Given the description of an element on the screen output the (x, y) to click on. 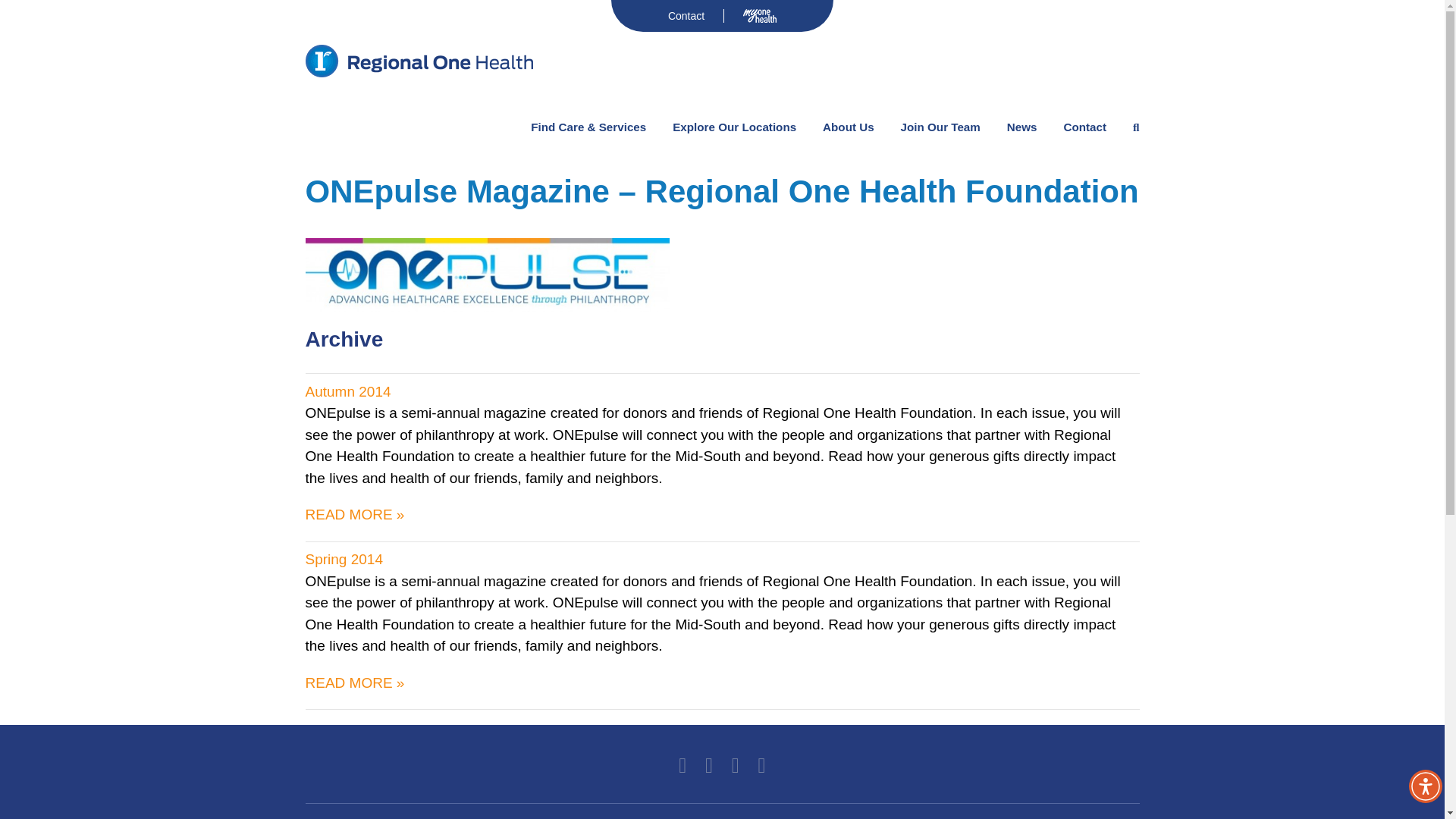
Explore Our Locations (734, 126)
Contact (686, 15)
Accessibility Menu (1425, 786)
